Given the description of an element on the screen output the (x, y) to click on. 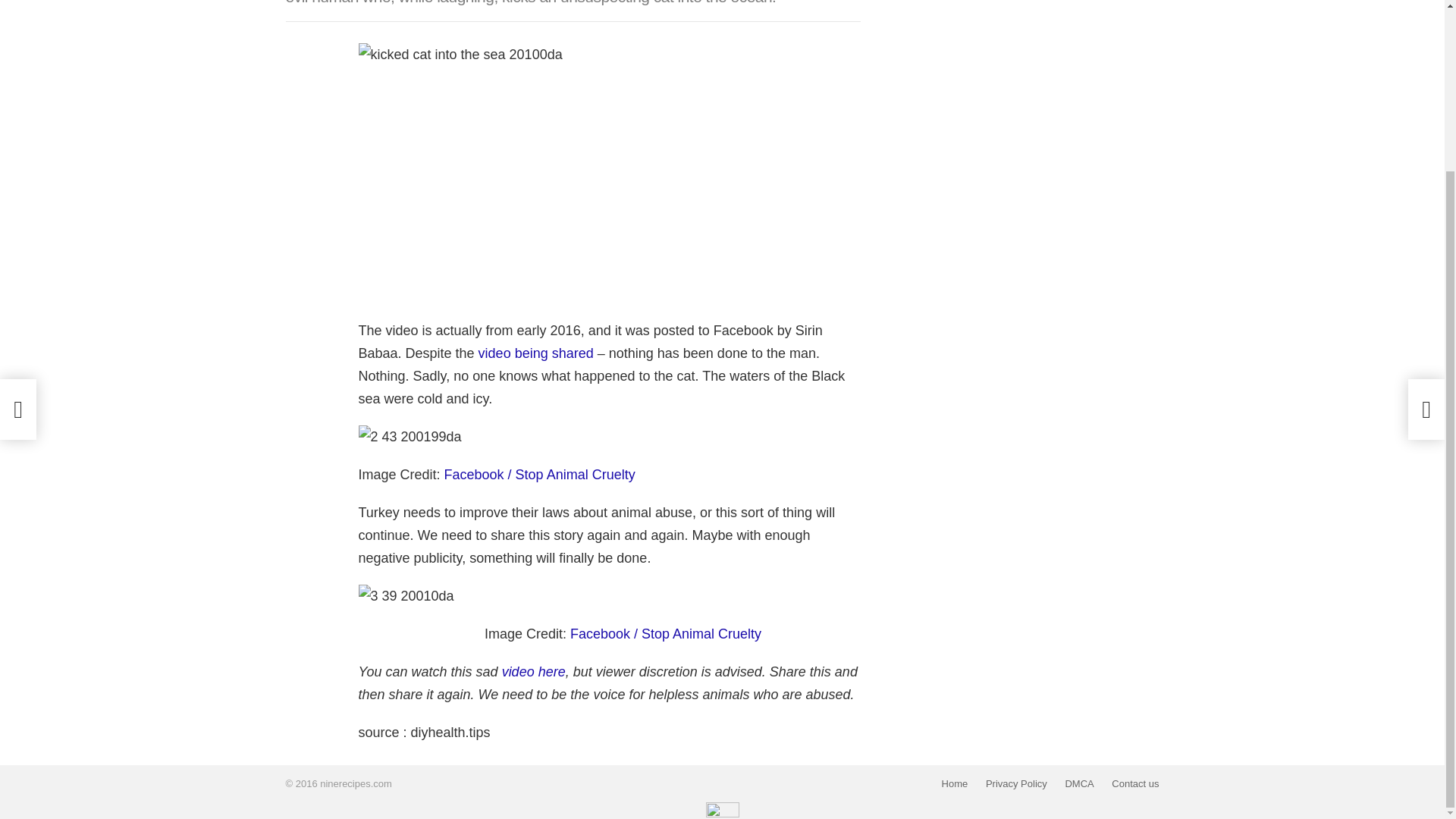
video here (534, 671)
Privacy Policy (1016, 784)
DMCA (1078, 784)
Home (954, 784)
Contact us (1134, 784)
video being shared (536, 353)
